Given the description of an element on the screen output the (x, y) to click on. 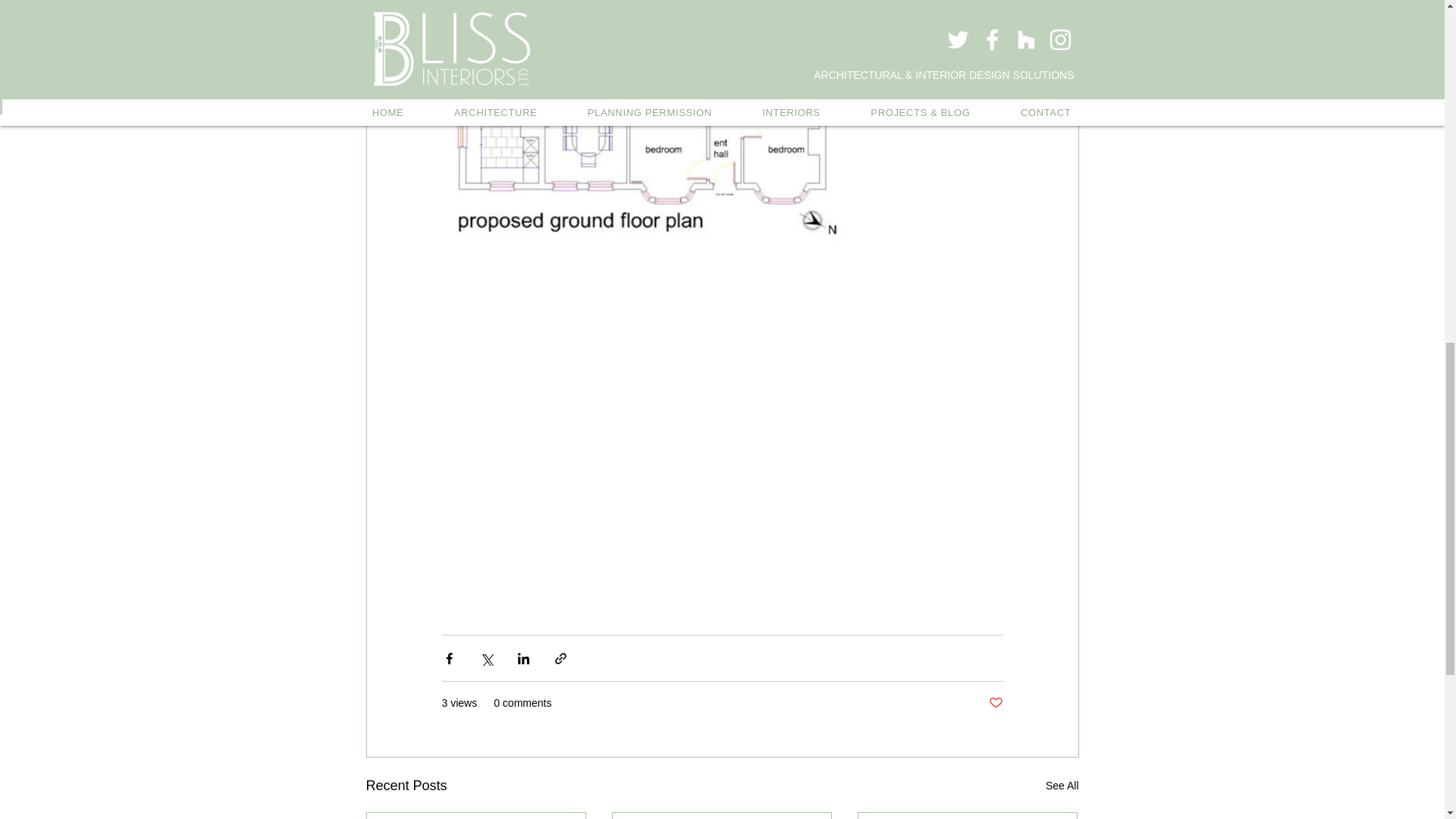
See All (1061, 785)
Post not marked as liked (995, 703)
